Given the description of an element on the screen output the (x, y) to click on. 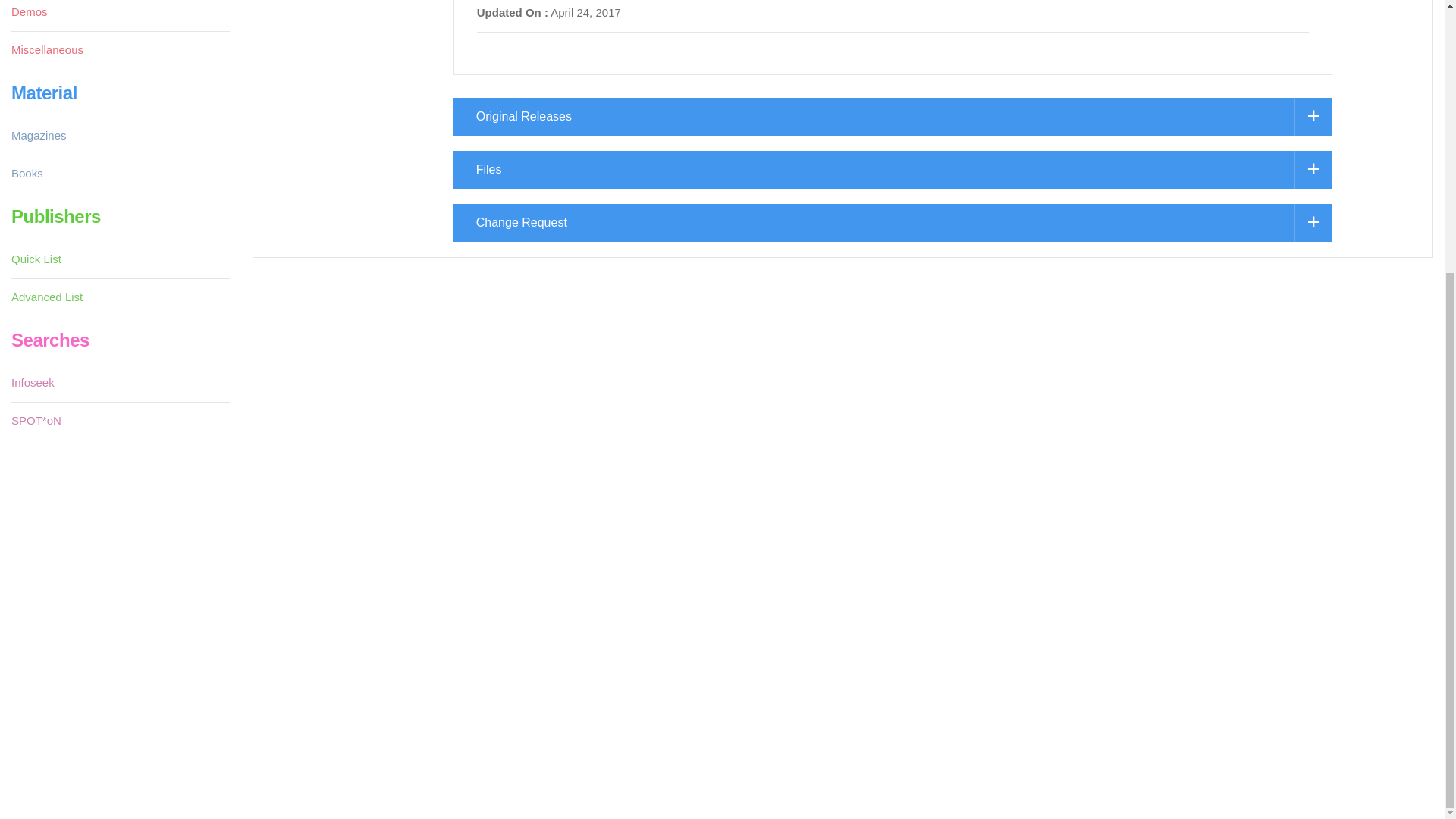
Change Request (892, 222)
Files (892, 169)
Original Releases (892, 116)
